Given the description of an element on the screen output the (x, y) to click on. 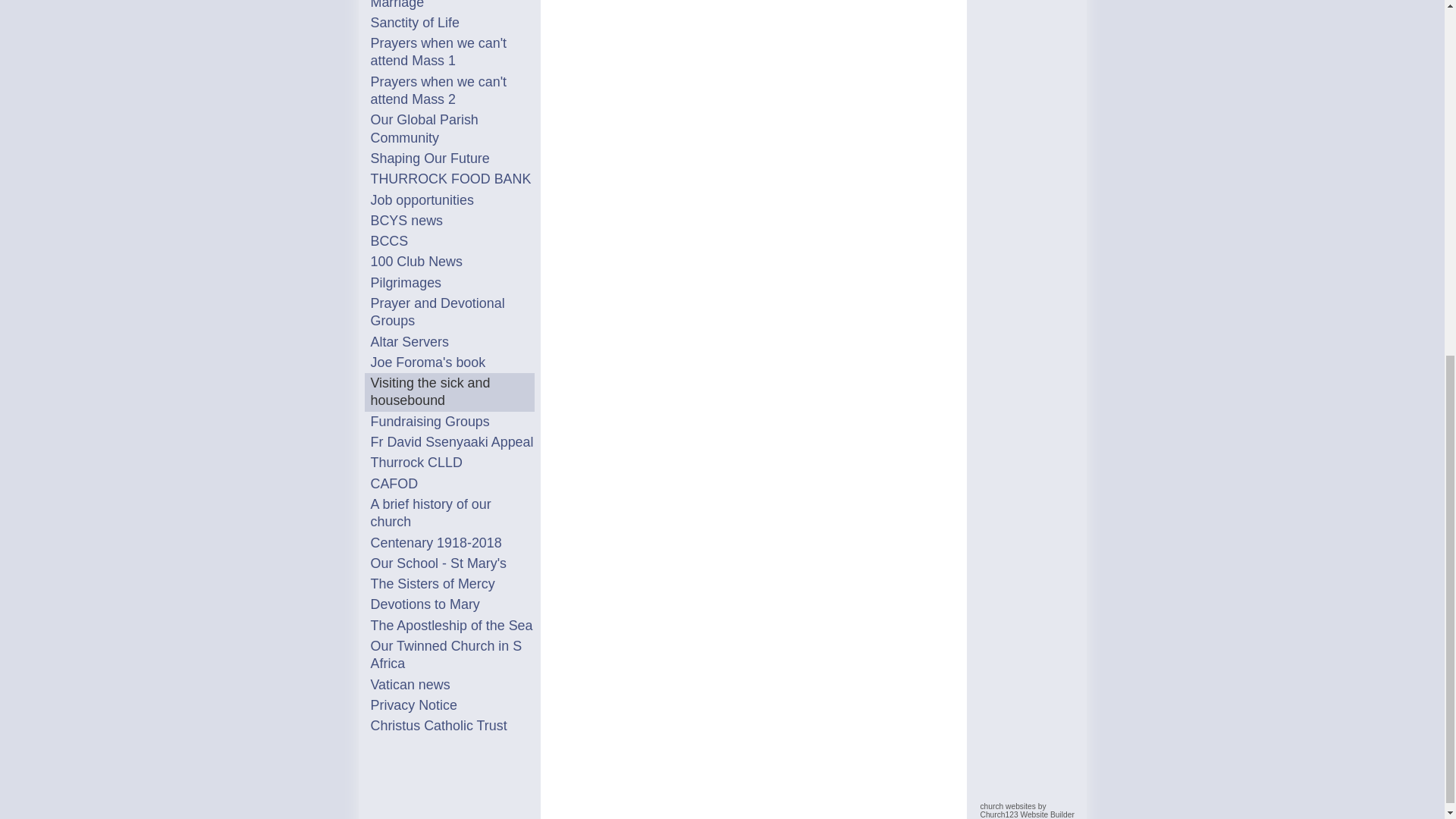
Centenary 1918-2018 (451, 543)
Marriage (451, 5)
A brief history of our church (451, 513)
Fr David Ssenyaaki Appeal (451, 442)
Prayers when we can't attend Mass 2 (451, 90)
Sanctity of Life (451, 22)
Fundraising Groups (451, 421)
Our Global Parish Community (451, 129)
Joe Foroma's book (451, 362)
100 Club News (451, 262)
